Given the description of an element on the screen output the (x, y) to click on. 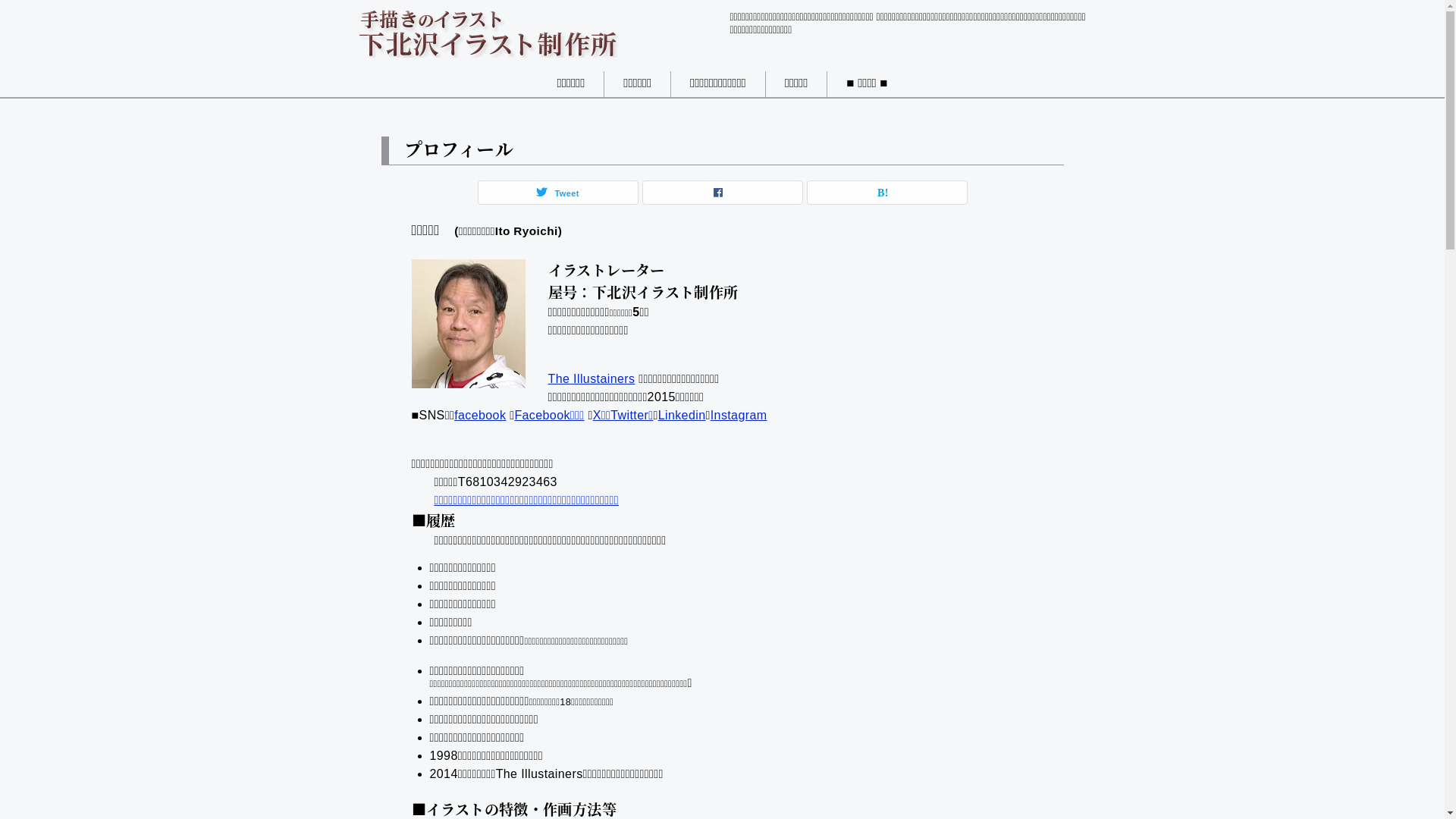
facebook Element type: text (479, 414)
Linkedin Element type: text (682, 414)
Tweet Element type: text (557, 192)
Instagram Element type: text (738, 414)
The Illustainers Element type: text (590, 378)
